Given the description of an element on the screen output the (x, y) to click on. 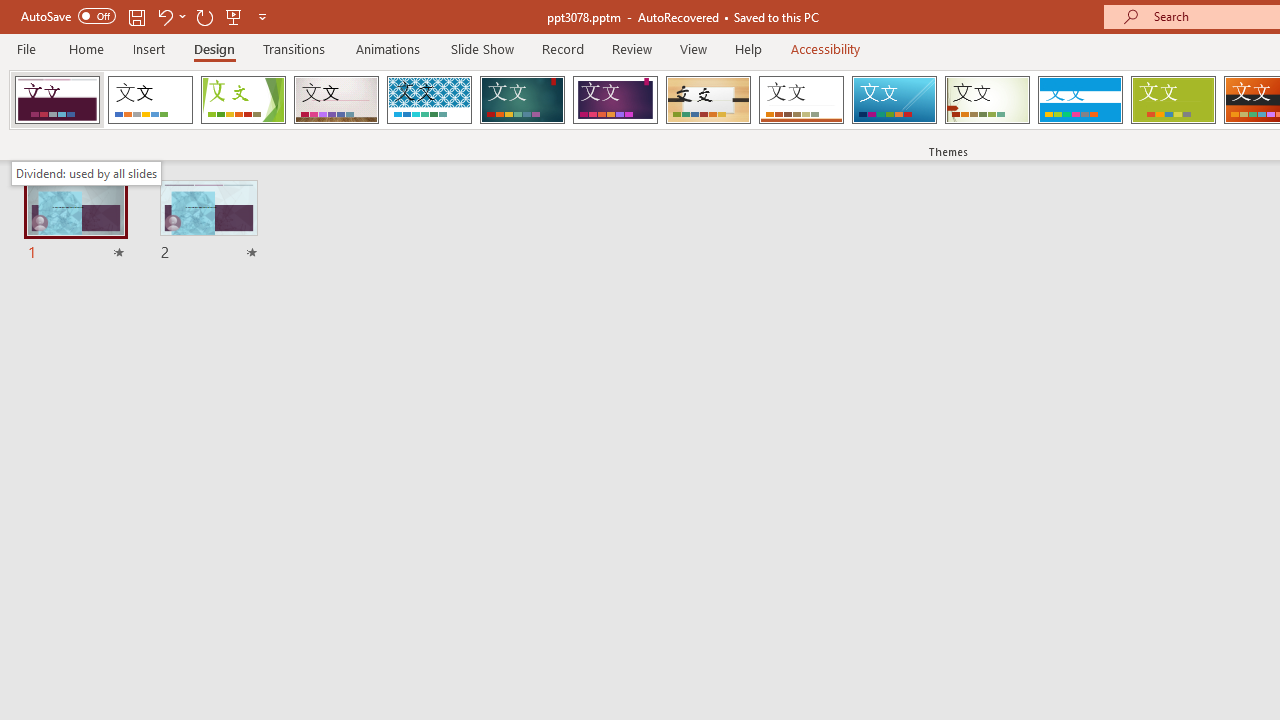
Gallery (336, 100)
Ion Boardroom (615, 100)
Slice (893, 100)
Ion (522, 100)
Organic (708, 100)
